Given the description of an element on the screen output the (x, y) to click on. 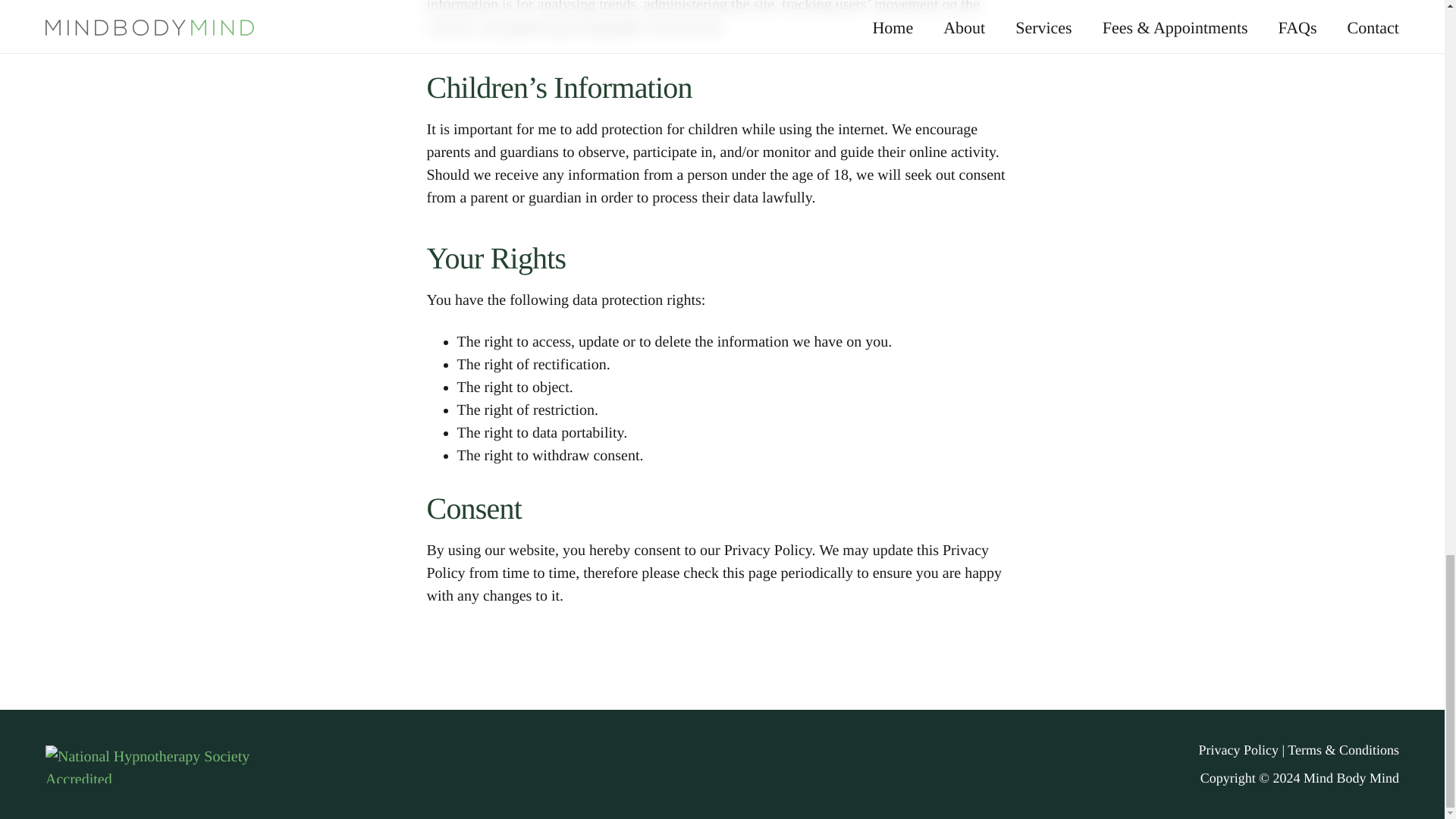
Privacy Policy (1238, 749)
